Given the description of an element on the screen output the (x, y) to click on. 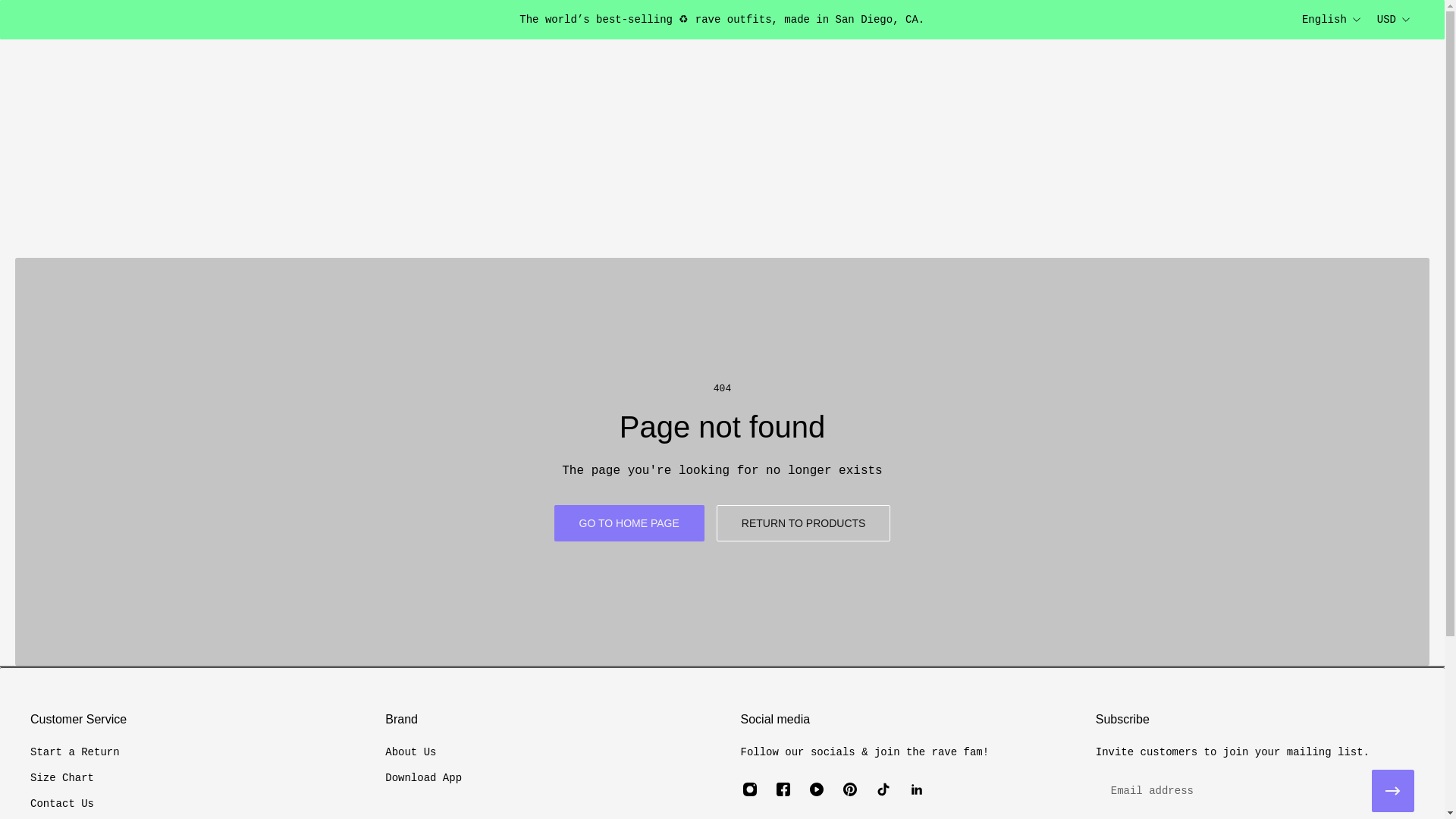
About Us (423, 751)
Start a Return (74, 751)
GO TO HOME PAGE (629, 523)
Download App (423, 777)
SKIP TO CONTENT (24, 21)
Size Chart (74, 777)
RETURN TO PRODUCTS (803, 523)
Contact Us (74, 803)
